Given the description of an element on the screen output the (x, y) to click on. 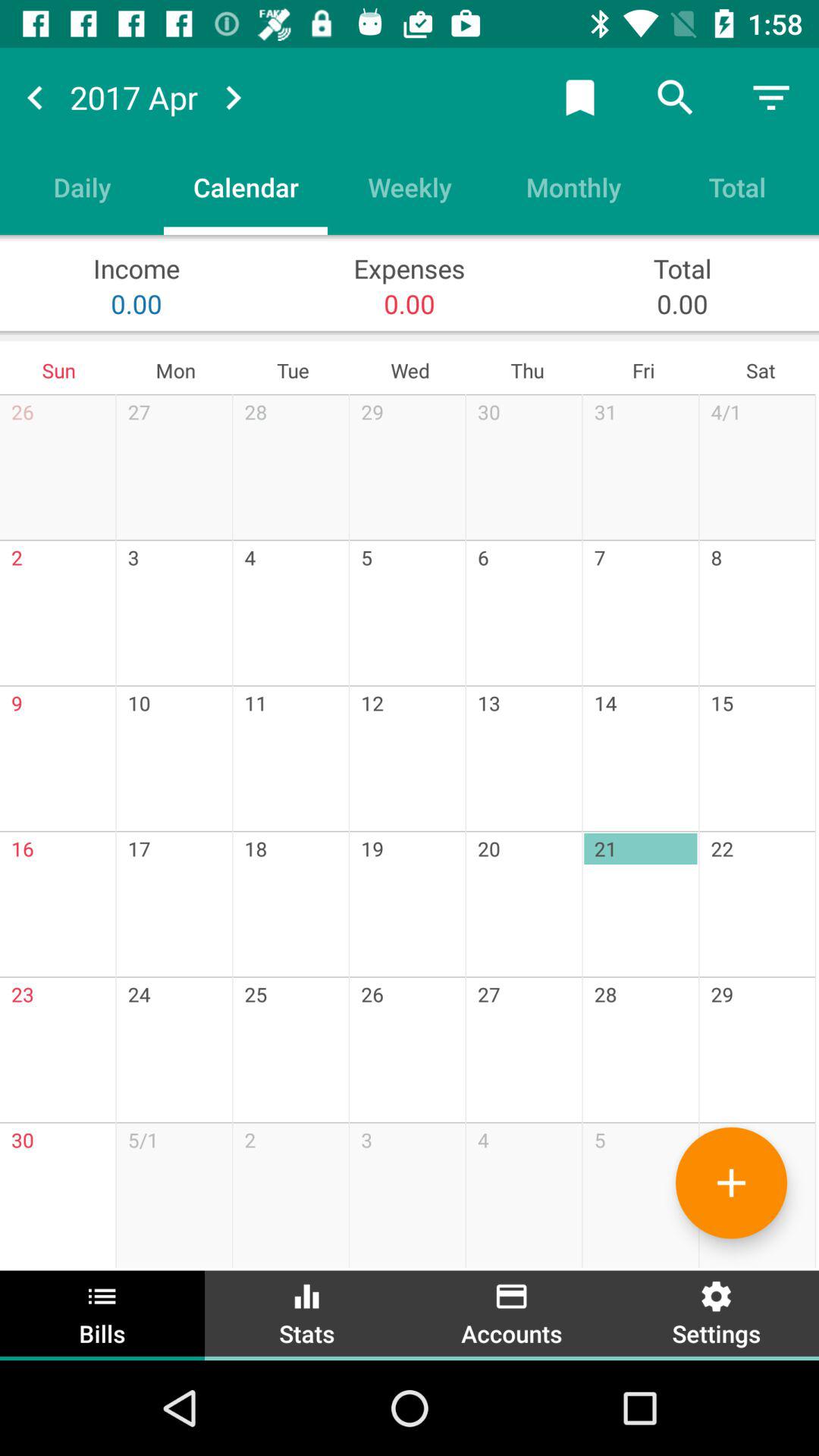
add more bills (731, 1182)
